Given the description of an element on the screen output the (x, y) to click on. 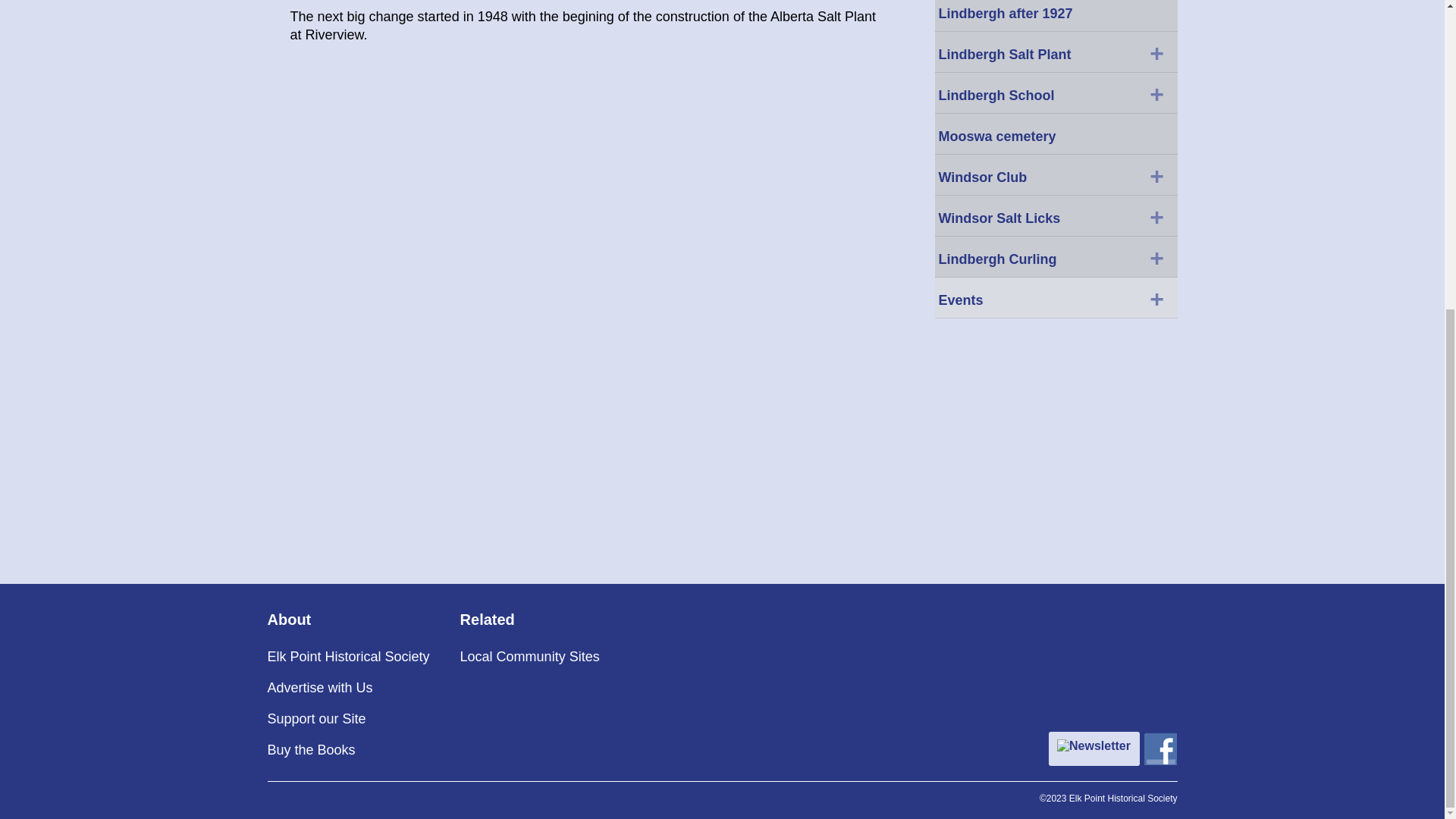
Advertisement (585, 254)
Lindbergh after 1927 (1055, 15)
